Given the description of an element on the screen output the (x, y) to click on. 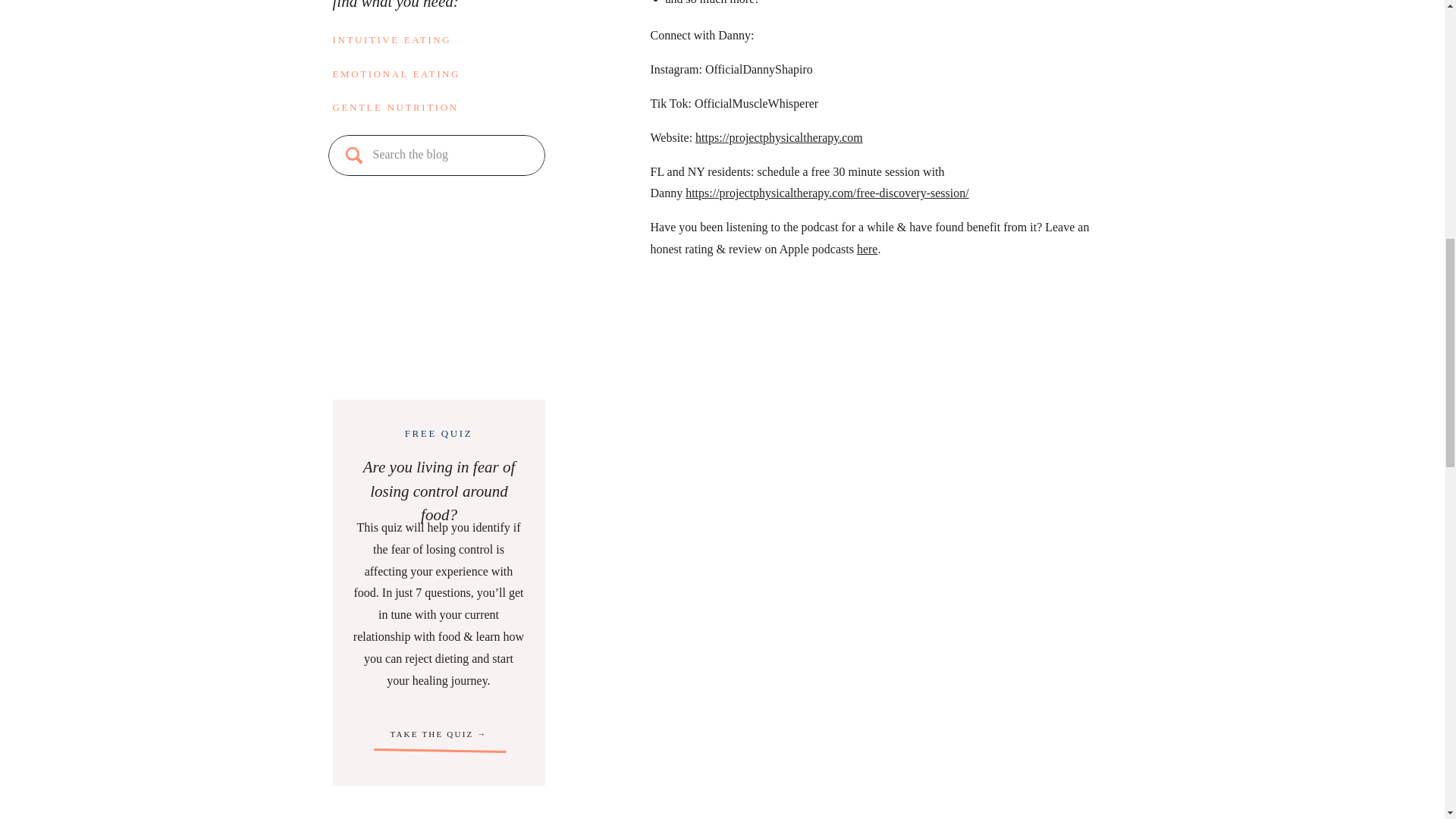
here (867, 248)
INTUITIVE EATING (437, 38)
GENTLE NUTRITION (437, 106)
EMOTIONAL EATING (437, 73)
Are you living in fear of losing control around food? (438, 480)
FREE QUIZ (437, 433)
